Given the description of an element on the screen output the (x, y) to click on. 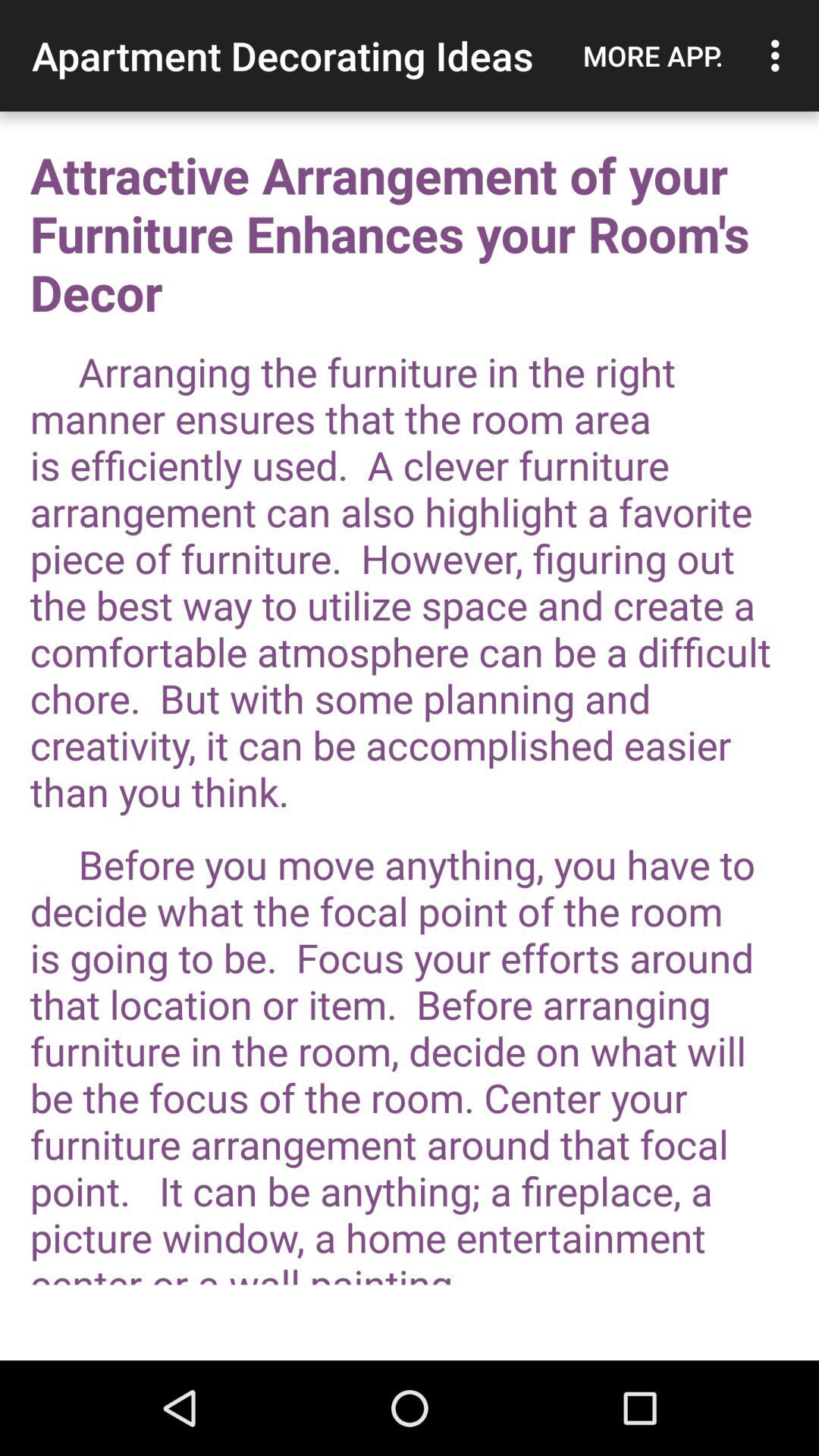
turn off the icon next to the apartment decorating ideas (653, 55)
